Given the description of an element on the screen output the (x, y) to click on. 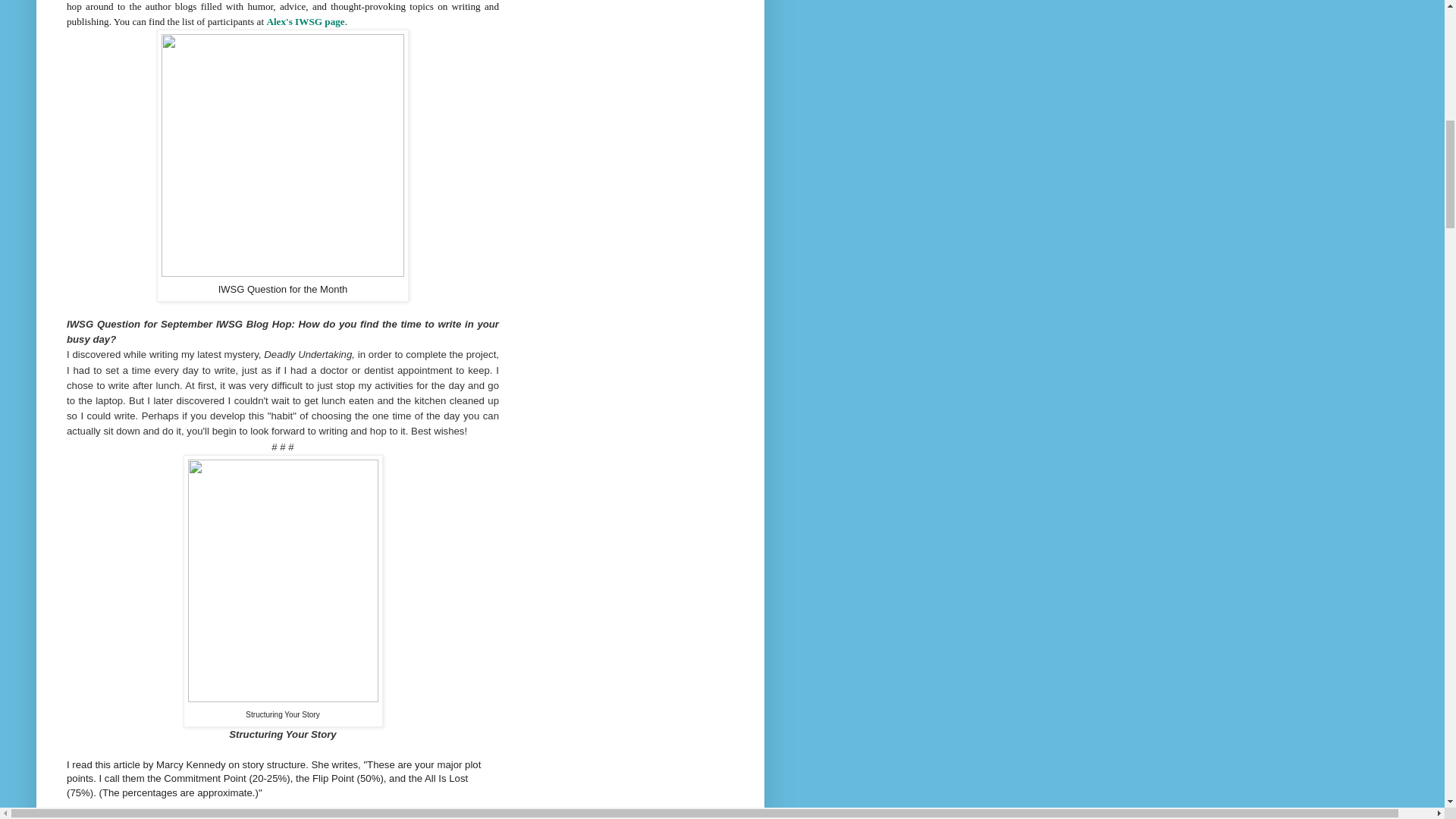
Alex's IWSG page (304, 21)
